Given the description of an element on the screen output the (x, y) to click on. 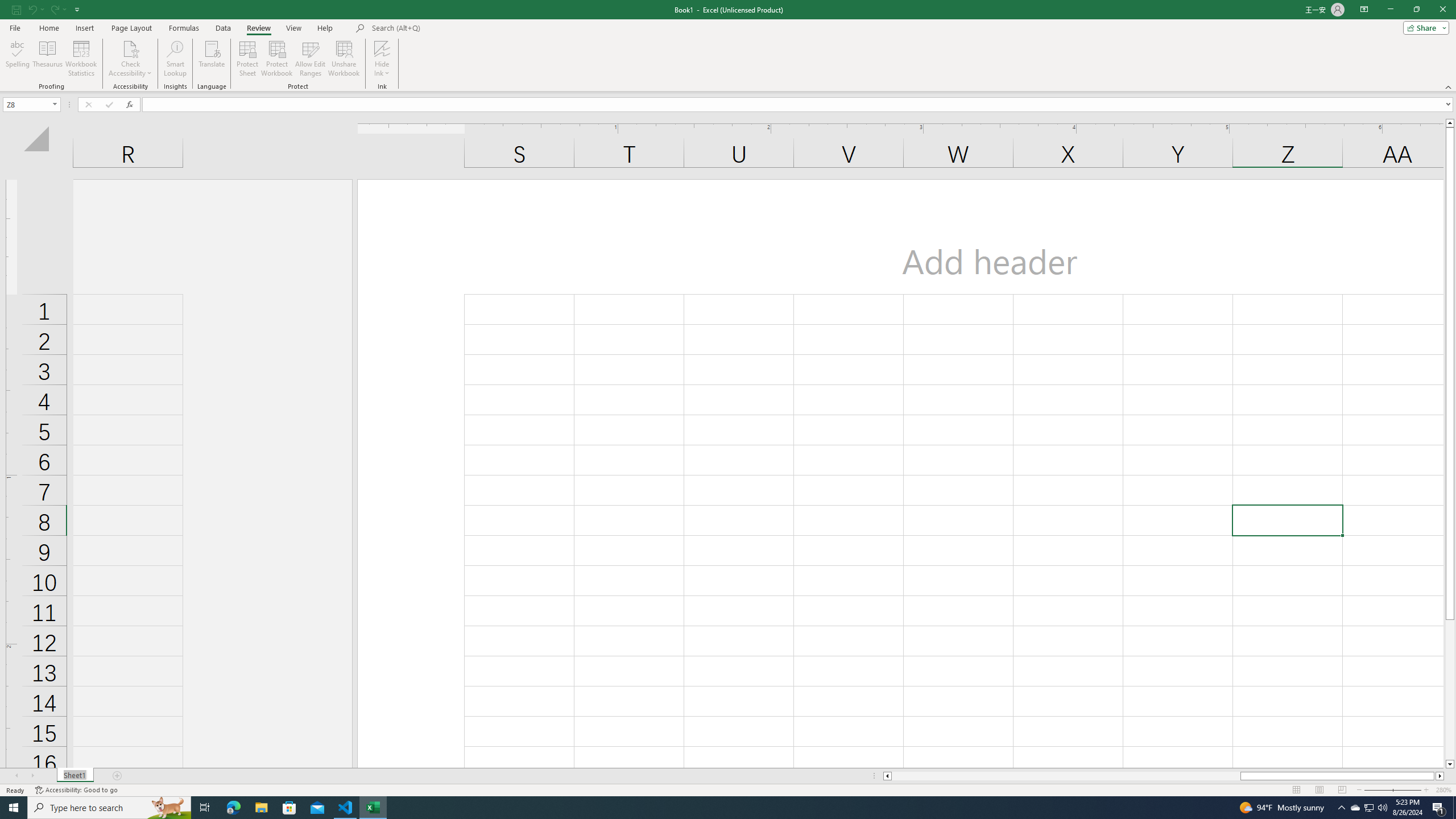
Translate (211, 58)
